Given the description of an element on the screen output the (x, y) to click on. 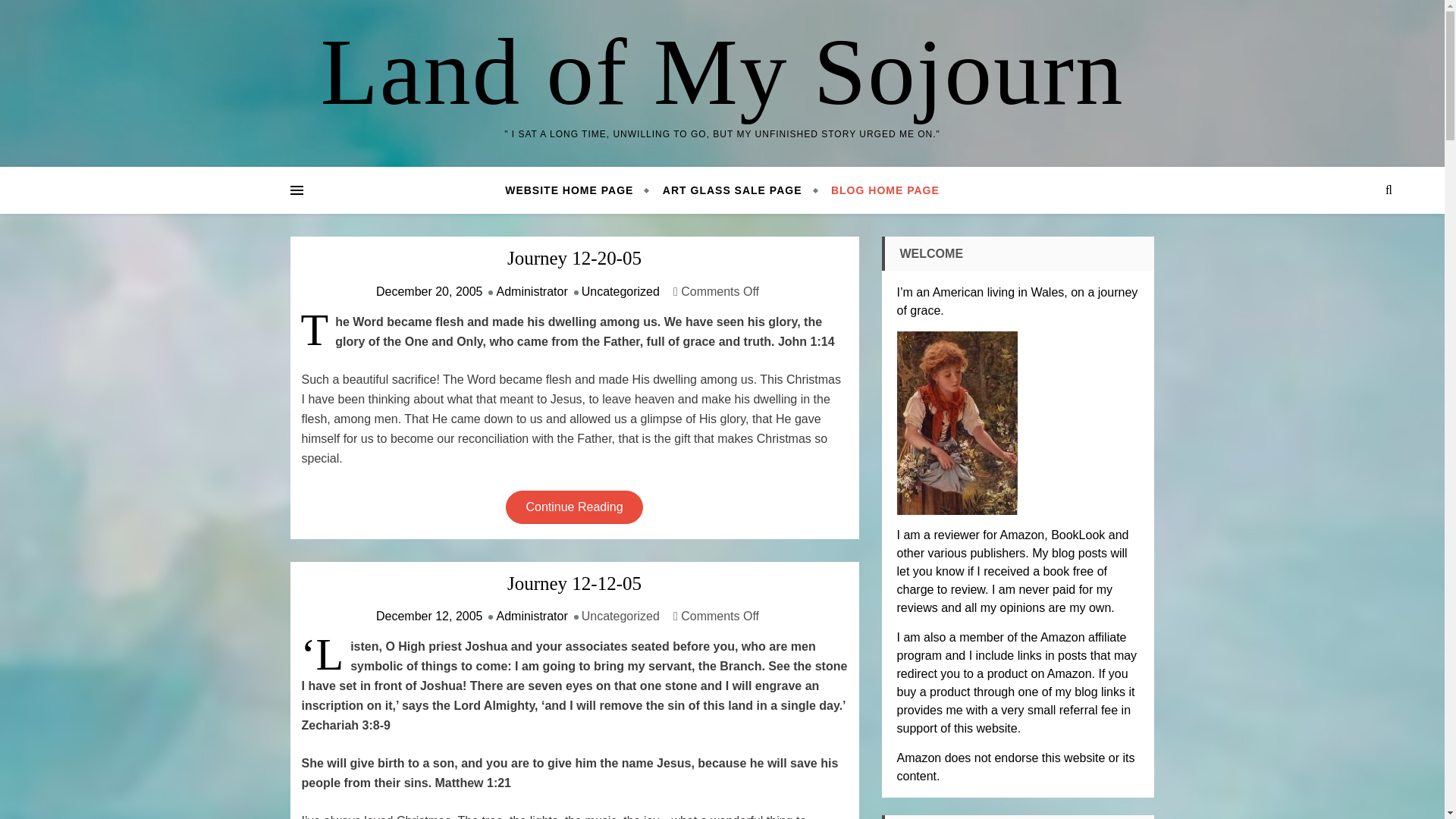
Land of My Sojourn (722, 71)
Journey 12-20-05 (574, 258)
ART GLASS SALE PAGE (732, 189)
BLOG HOME PAGE (878, 189)
Journey 12-12-05 (574, 583)
Uncategorized (619, 291)
December 12, 2005 (429, 615)
Administrator (531, 291)
December 20, 2005 (429, 291)
Continue Reading (573, 506)
